Given the description of an element on the screen output the (x, y) to click on. 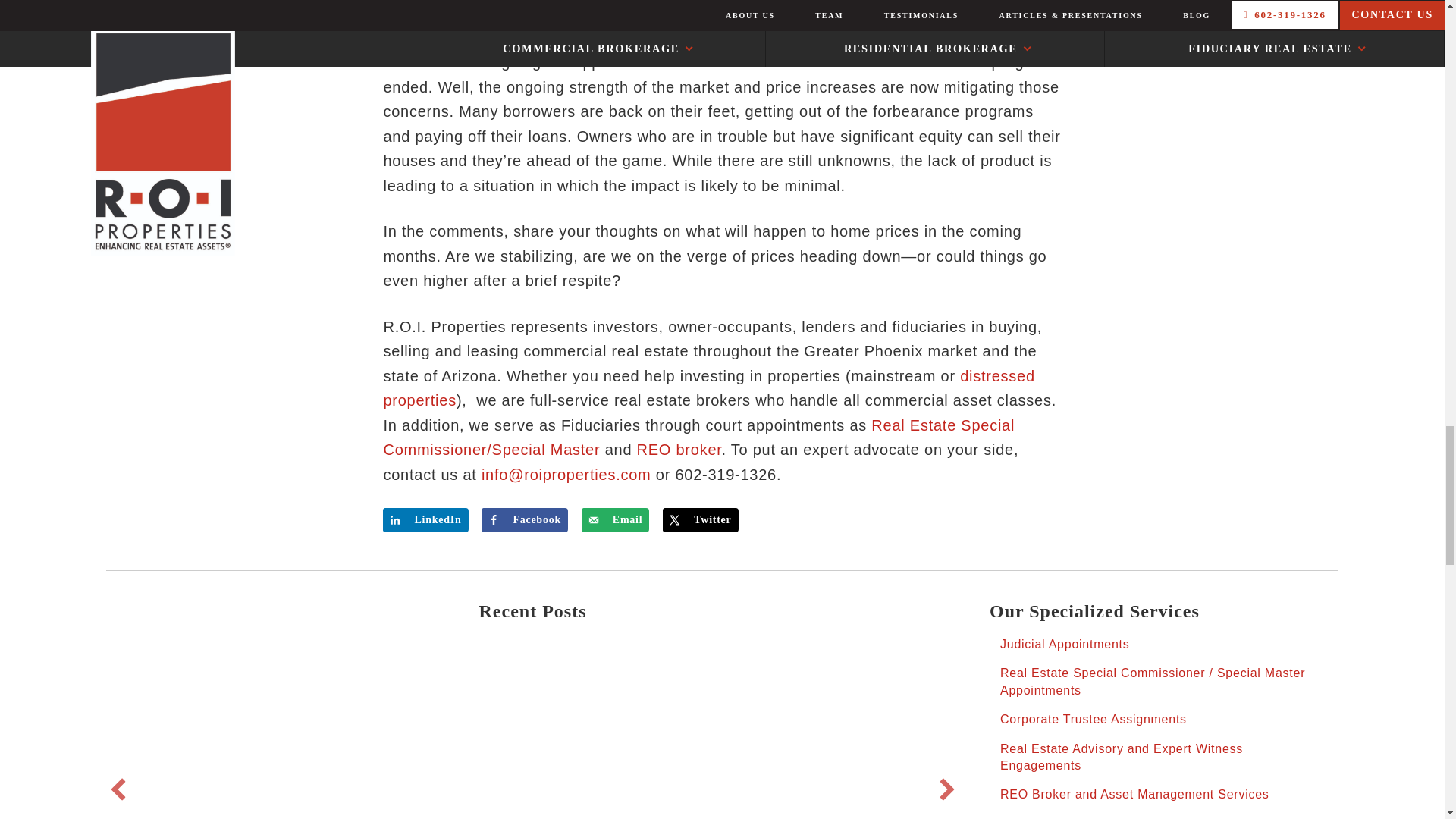
distressed properties (707, 388)
LinkedIn (424, 519)
REO broker (679, 449)
Share on Facebook (524, 519)
Send over email (614, 519)
Share on X (700, 519)
Share on LinkedIn (424, 519)
